Given the description of an element on the screen output the (x, y) to click on. 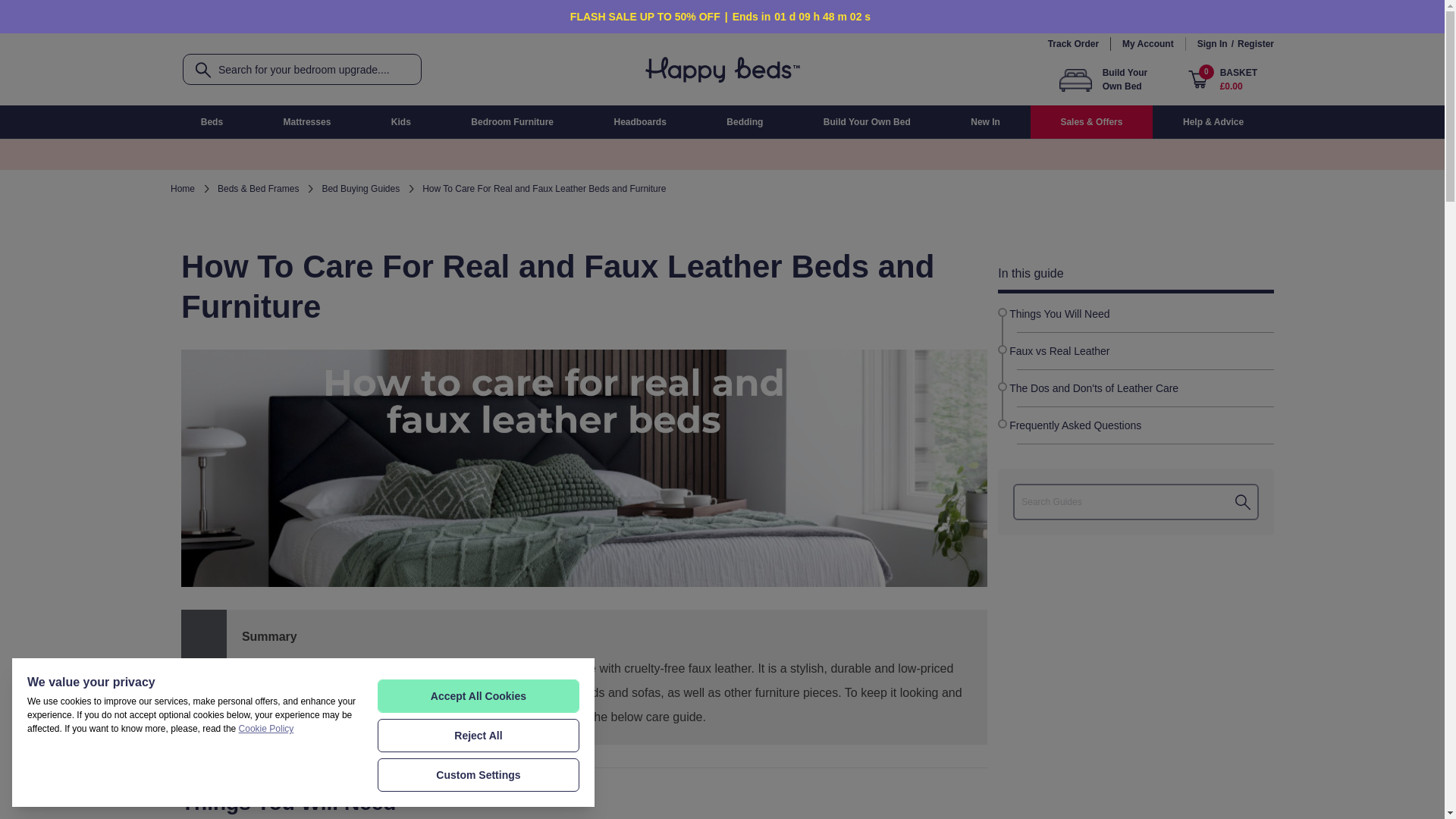
  Build Your Own Bed (1113, 79)
My Account (1154, 42)
Happy Beds (721, 68)
Beds (211, 121)
Search (198, 70)
Register (1255, 42)
Track Order (1073, 42)
Sign In (1211, 42)
Search (198, 70)
Happy Beds (722, 68)
